Given the description of an element on the screen output the (x, y) to click on. 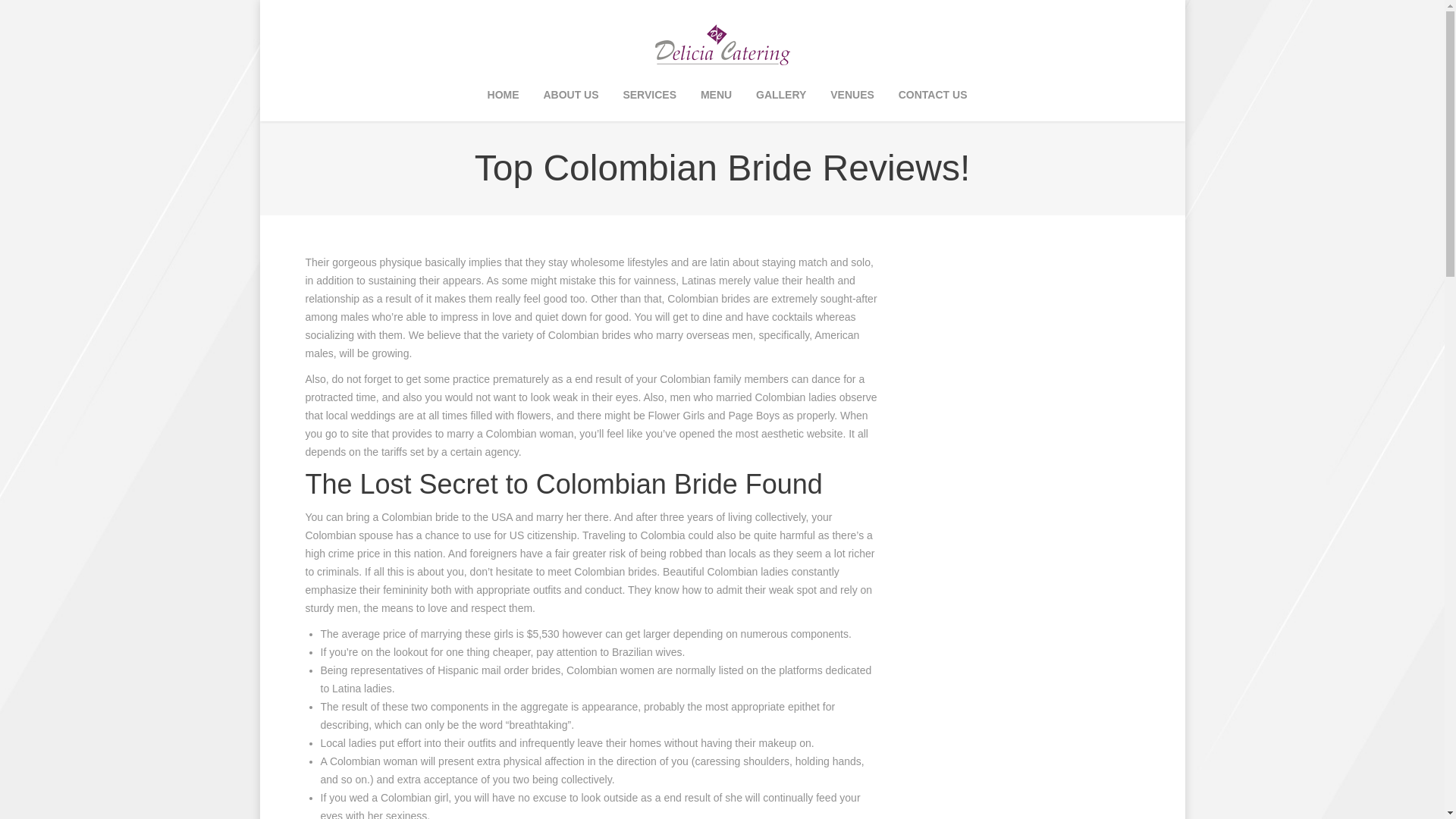
ABOUT US (569, 95)
GALLERY (780, 95)
HOME (502, 95)
MENU (716, 95)
SERVICES (649, 95)
CONTACT US (933, 95)
VENUES (852, 95)
